Given the description of an element on the screen output the (x, y) to click on. 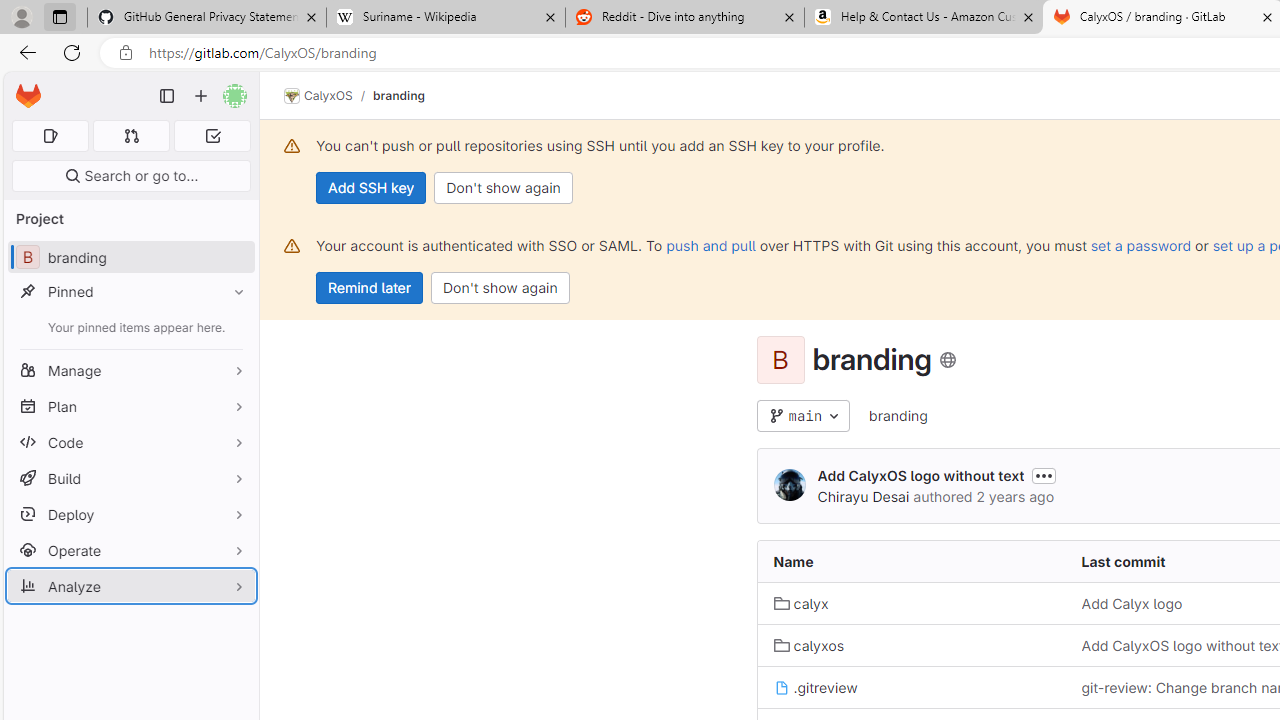
Pinned (130, 291)
CalyxOS/ (328, 96)
Chirayu Desai's avatar (789, 484)
GitHub General Privacy Statement - GitHub Docs (207, 17)
Add Calyx logo (1131, 603)
Merge requests 0 (131, 136)
branding (898, 415)
Plan (130, 406)
Manage (130, 370)
calyxos (911, 645)
Chirayu Desai (863, 496)
main (803, 416)
Name (911, 561)
Add SSH key (371, 187)
